Given the description of an element on the screen output the (x, y) to click on. 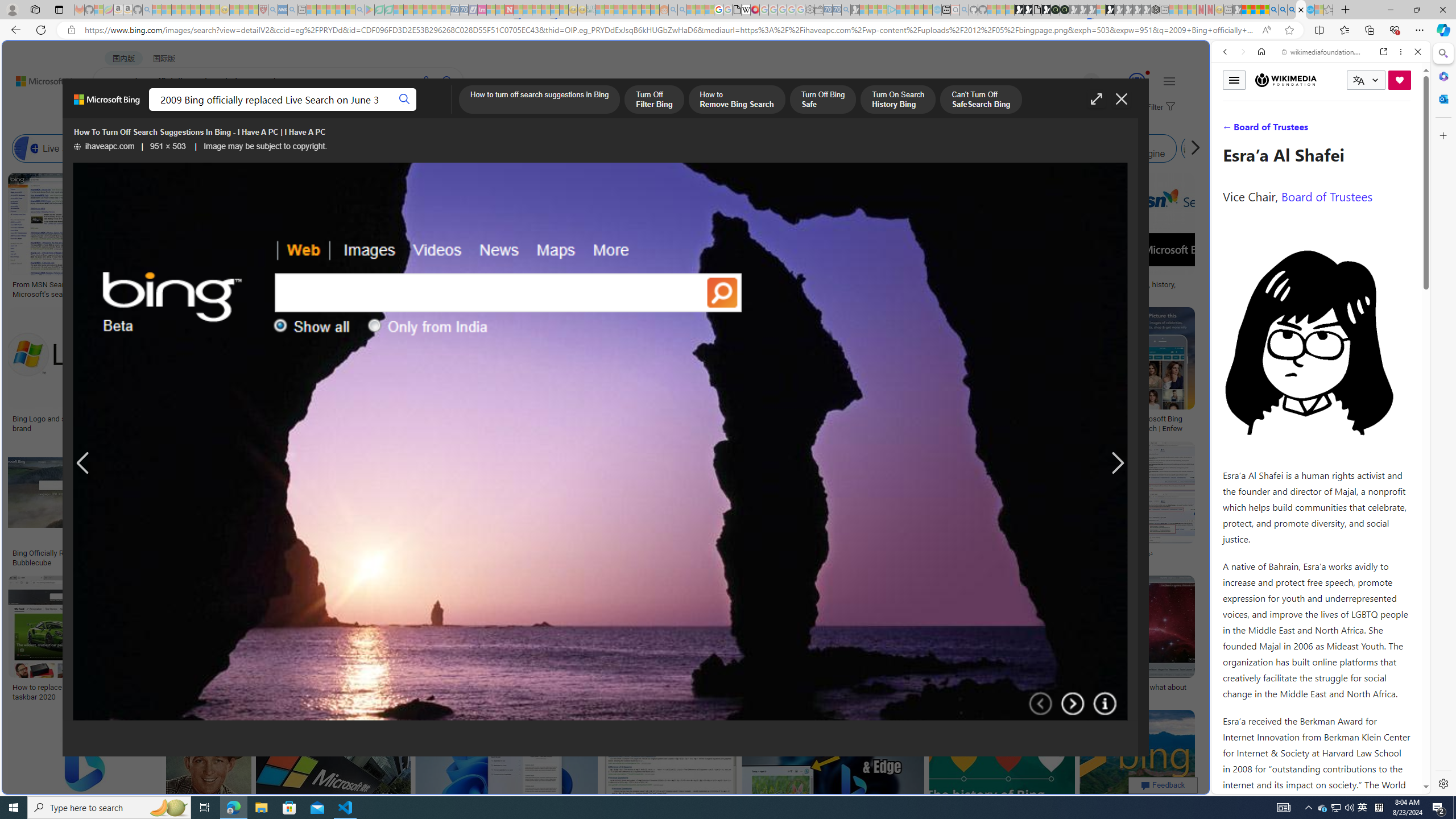
Forward (1242, 51)
microsoft bing (991, 419)
Bing Image Search Similar Images (894, 148)
2009 Bing officially replaced Live Search on June 3 - Search (1283, 9)
Terms of Use Agreement - Sleeping (378, 9)
MediaWiki (754, 9)
Turn Off Filter Bing (654, 100)
